Given the description of an element on the screen output the (x, y) to click on. 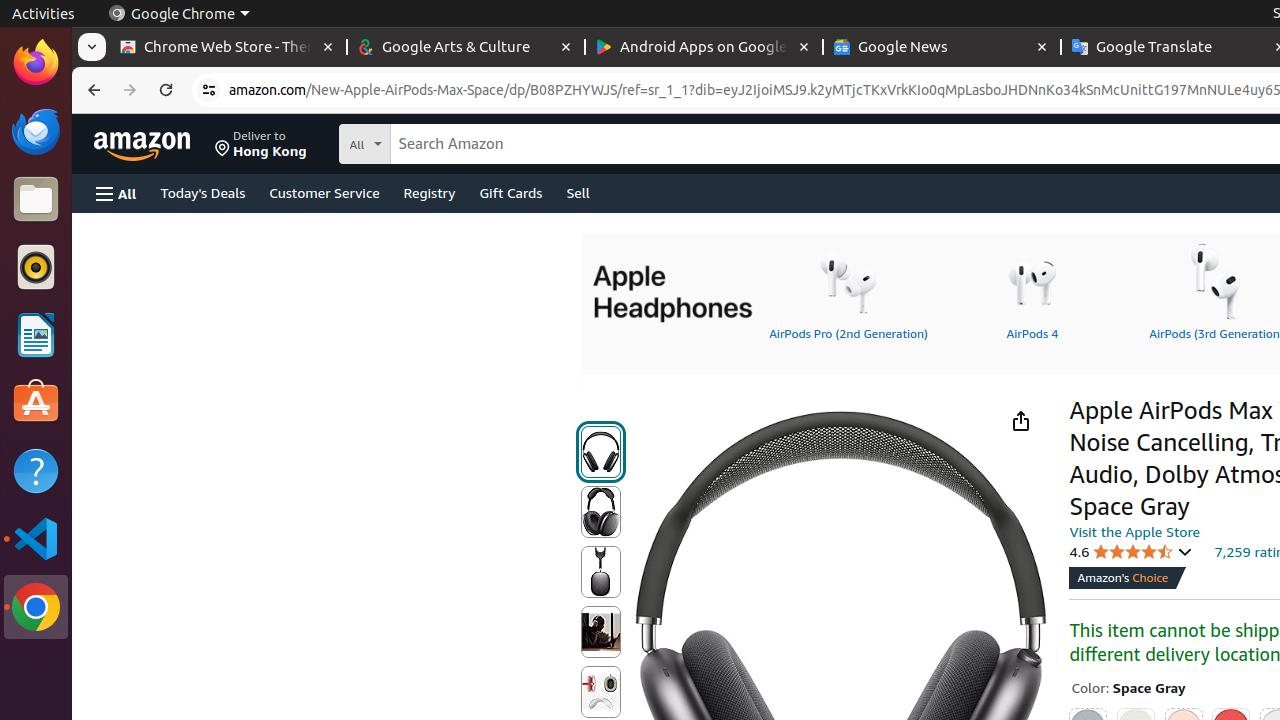
Back Element type: push-button (91, 90)
Rhythmbox Element type: push-button (36, 267)
Forward Element type: push-button (130, 90)
Files Element type: push-button (36, 199)
Share Element type: push-button (1020, 420)
